Given the description of an element on the screen output the (x, y) to click on. 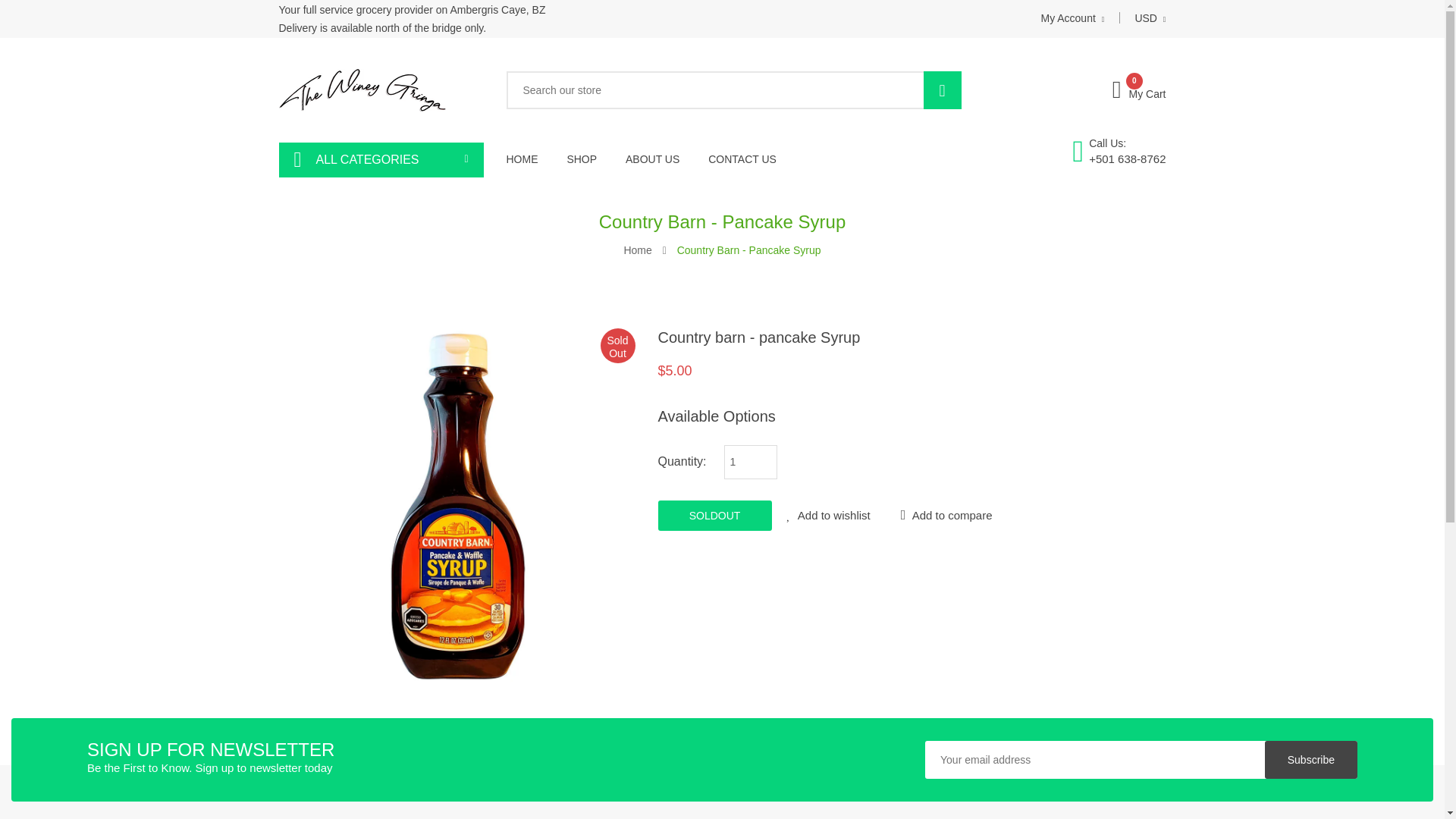
Home (636, 250)
My Cart (1139, 93)
Back to the home page (636, 250)
CONTACT US (742, 159)
Wishlist (828, 514)
ABOUT US (652, 159)
My Account (1072, 18)
Add to Compare (946, 514)
1 (750, 462)
SHOP (581, 159)
HOME (528, 159)
